Given the description of an element on the screen output the (x, y) to click on. 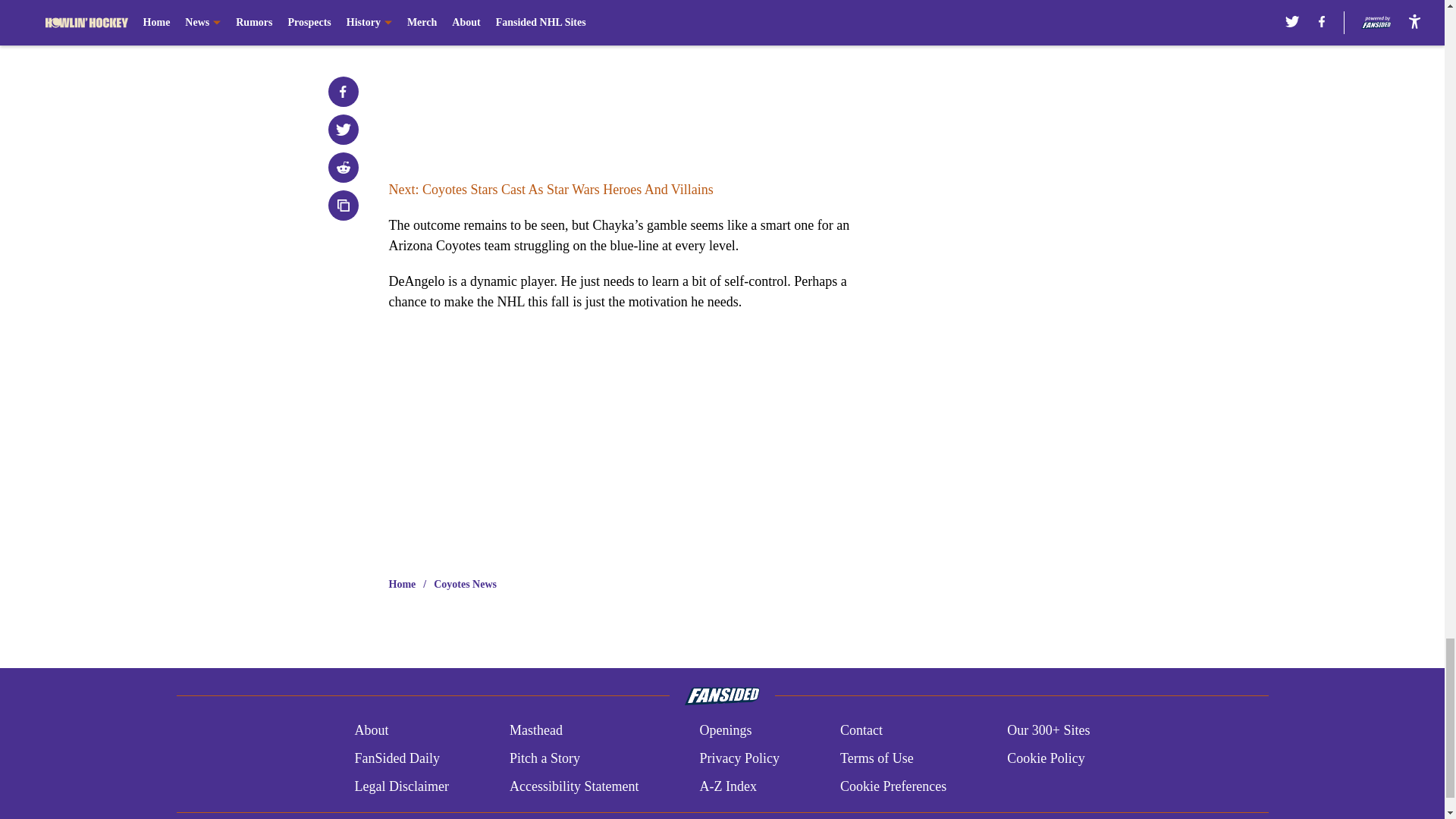
Home (401, 584)
Openings (724, 730)
Coyotes News (464, 584)
Contact (861, 730)
FanSided Daily (396, 758)
Next: Coyotes Stars Cast As Star Wars Heroes And Villains (550, 189)
About (370, 730)
Masthead (535, 730)
